Given the description of an element on the screen output the (x, y) to click on. 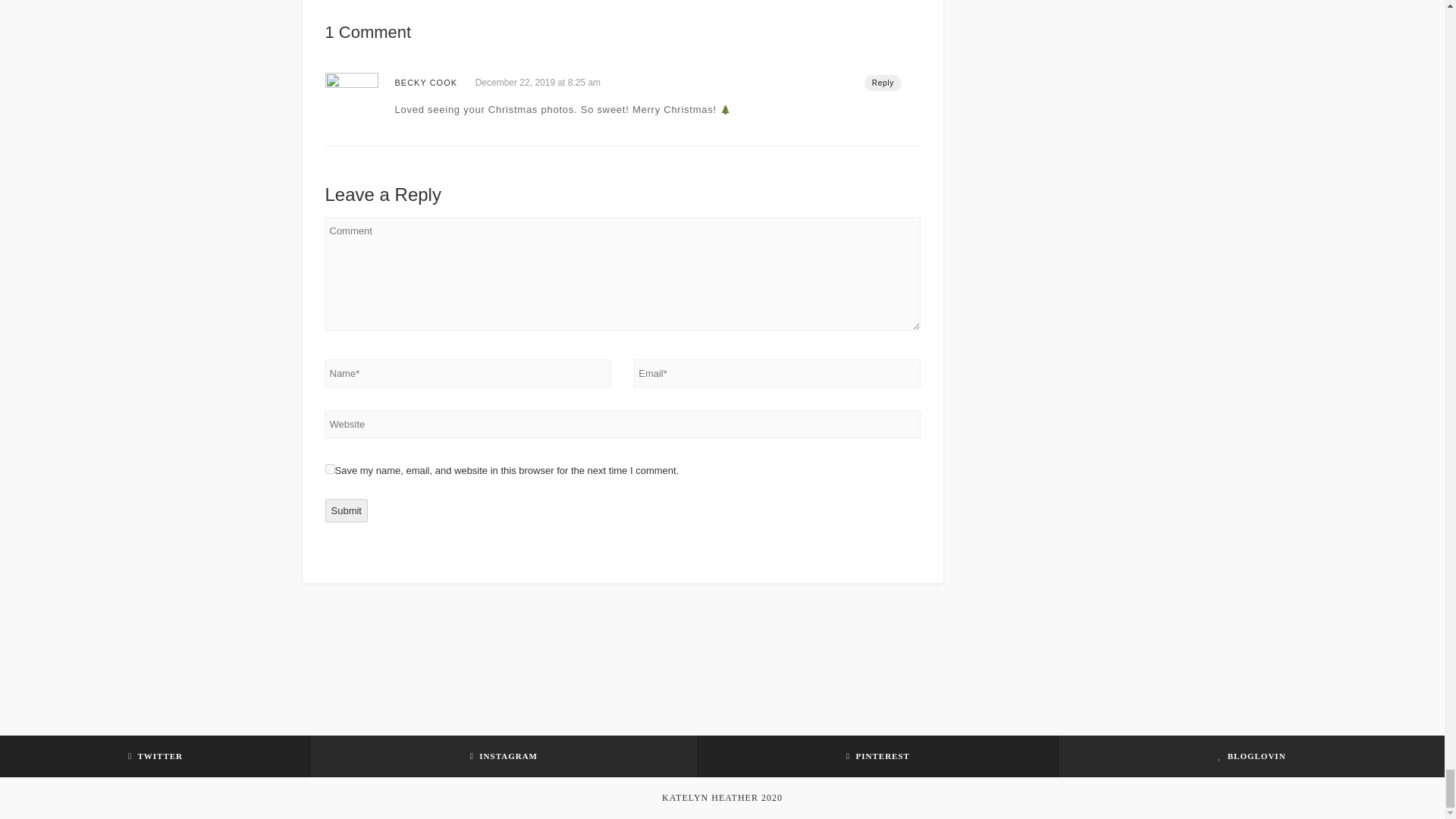
Submit (345, 510)
yes (329, 469)
